Given the description of an element on the screen output the (x, y) to click on. 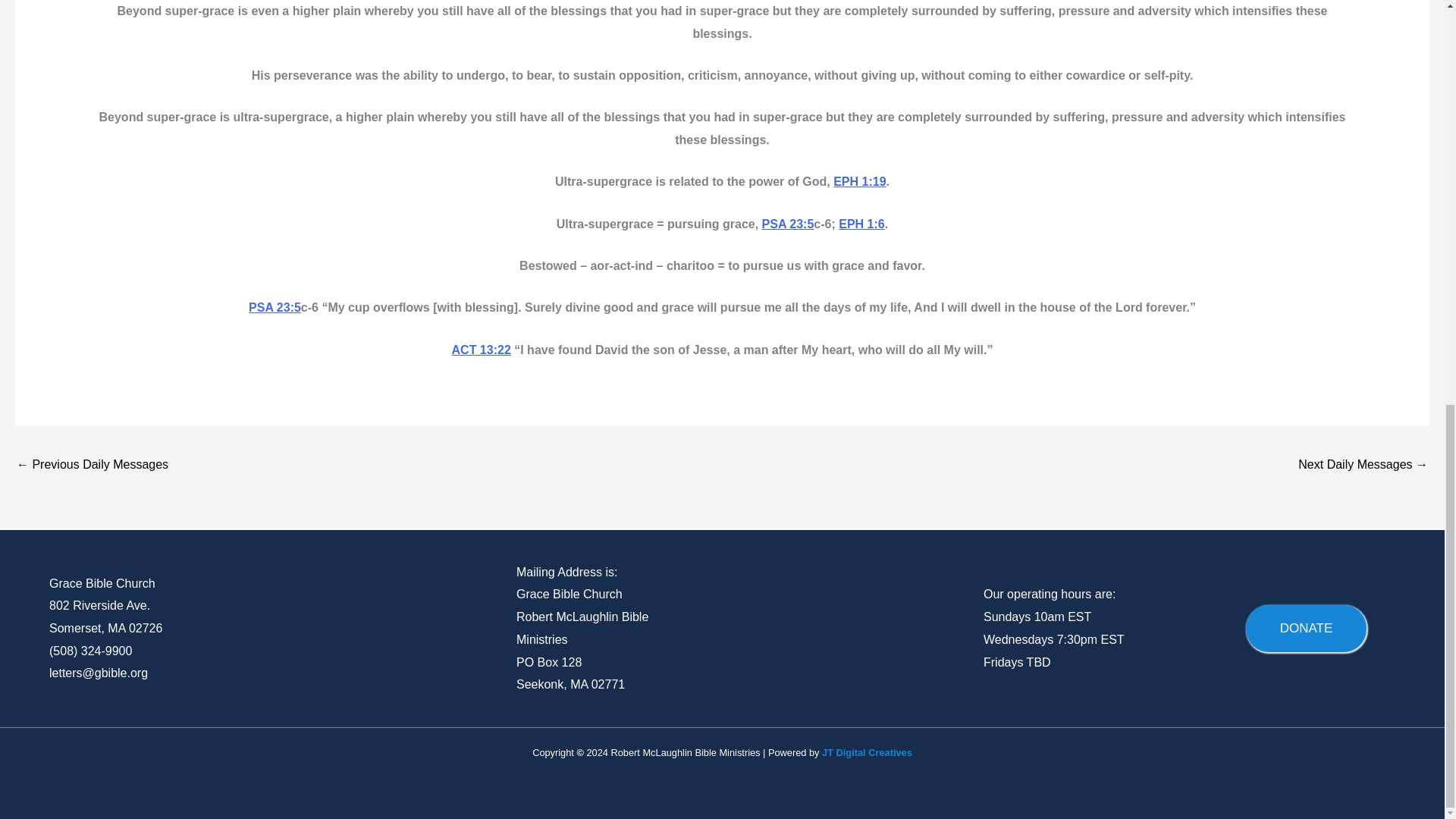
Psalms 23:5 (274, 307)
Psalms 23:5 (787, 223)
